Given the description of an element on the screen output the (x, y) to click on. 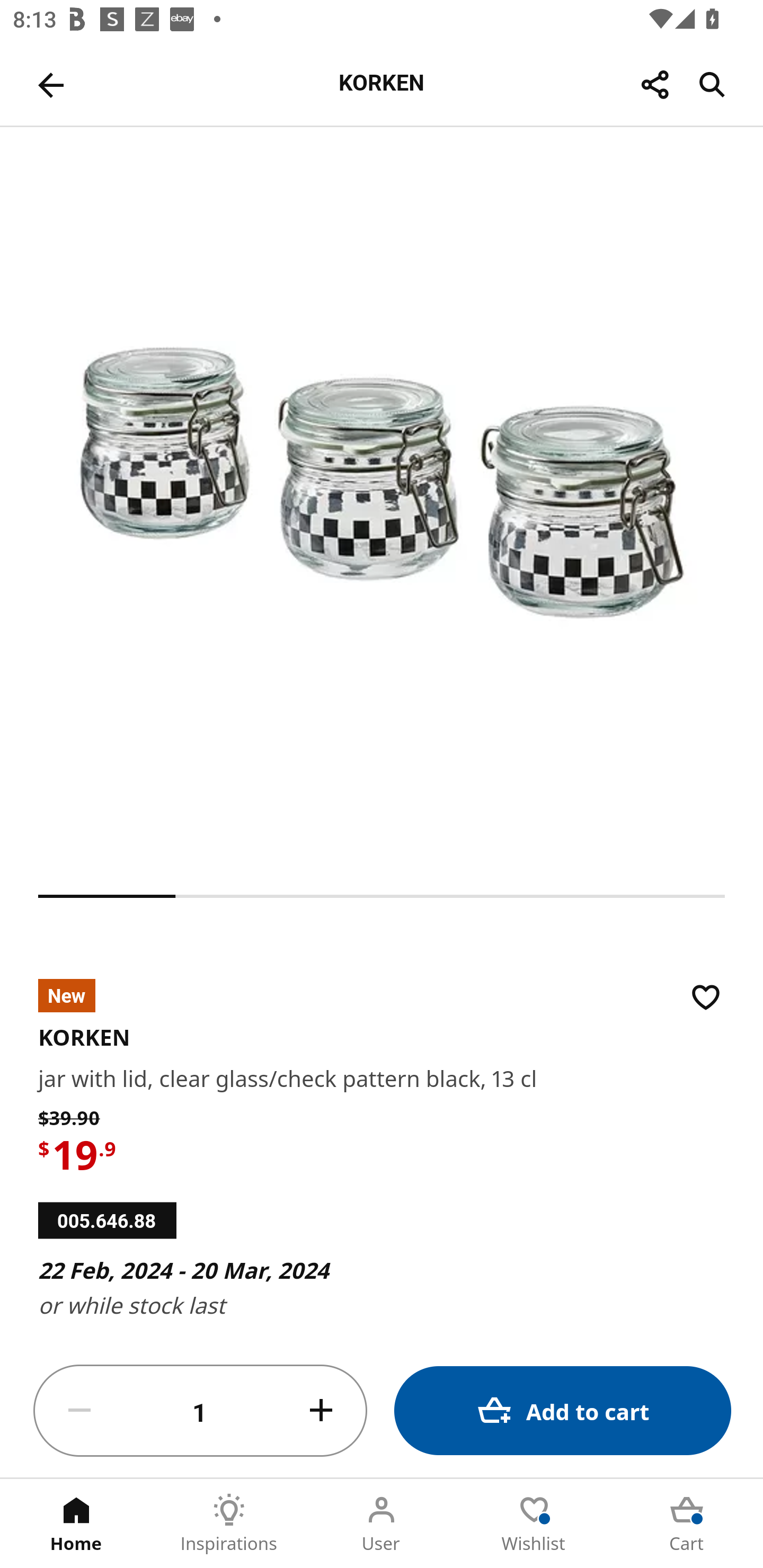
Add to cart (562, 1410)
1 (200, 1411)
Home
Tab 1 of 5 (76, 1522)
Inspirations
Tab 2 of 5 (228, 1522)
User
Tab 3 of 5 (381, 1522)
Wishlist
Tab 4 of 5 (533, 1522)
Cart
Tab 5 of 5 (686, 1522)
